Given the description of an element on the screen output the (x, y) to click on. 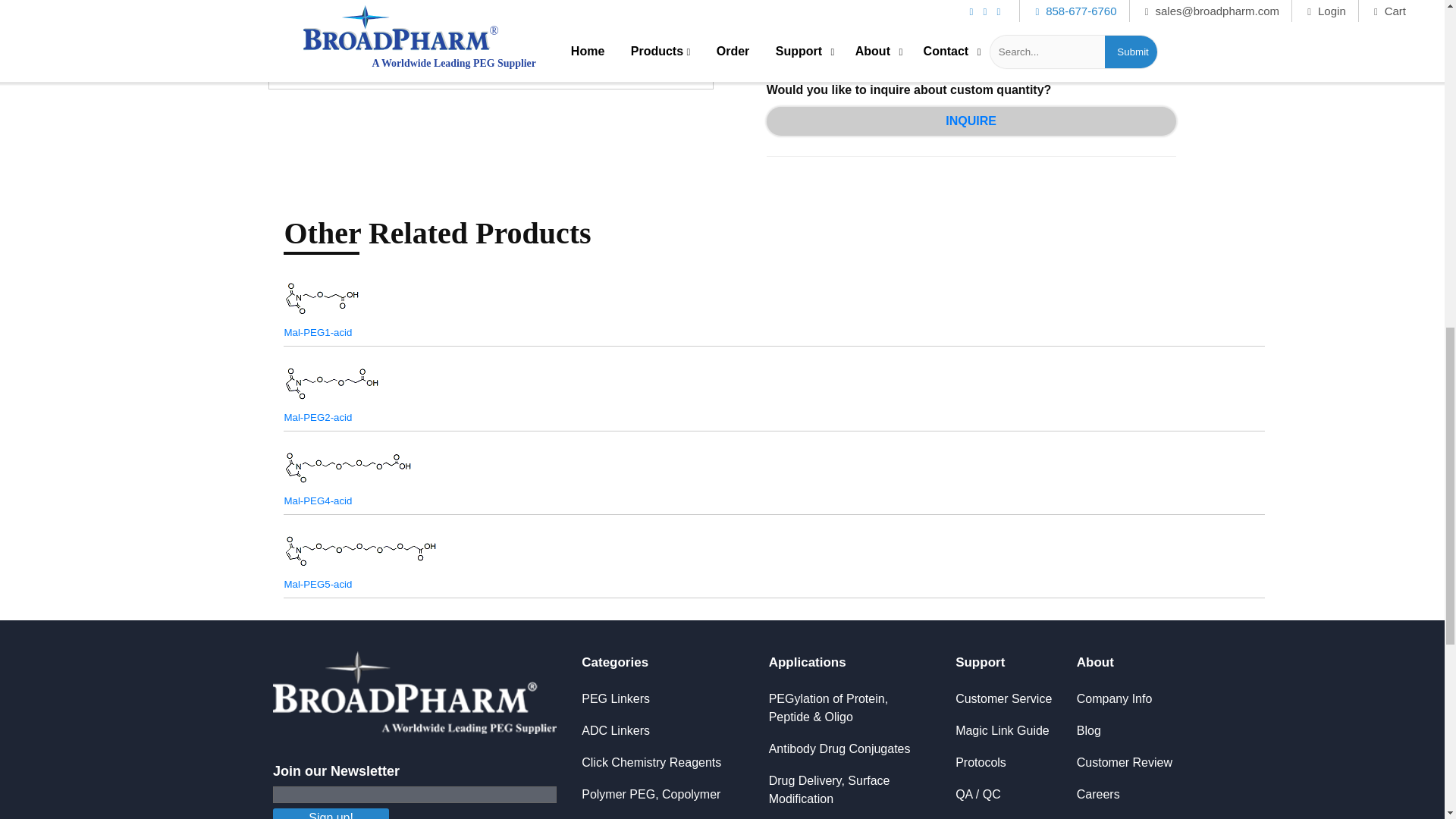
ADD TO CART (971, 8)
